Given the description of an element on the screen output the (x, y) to click on. 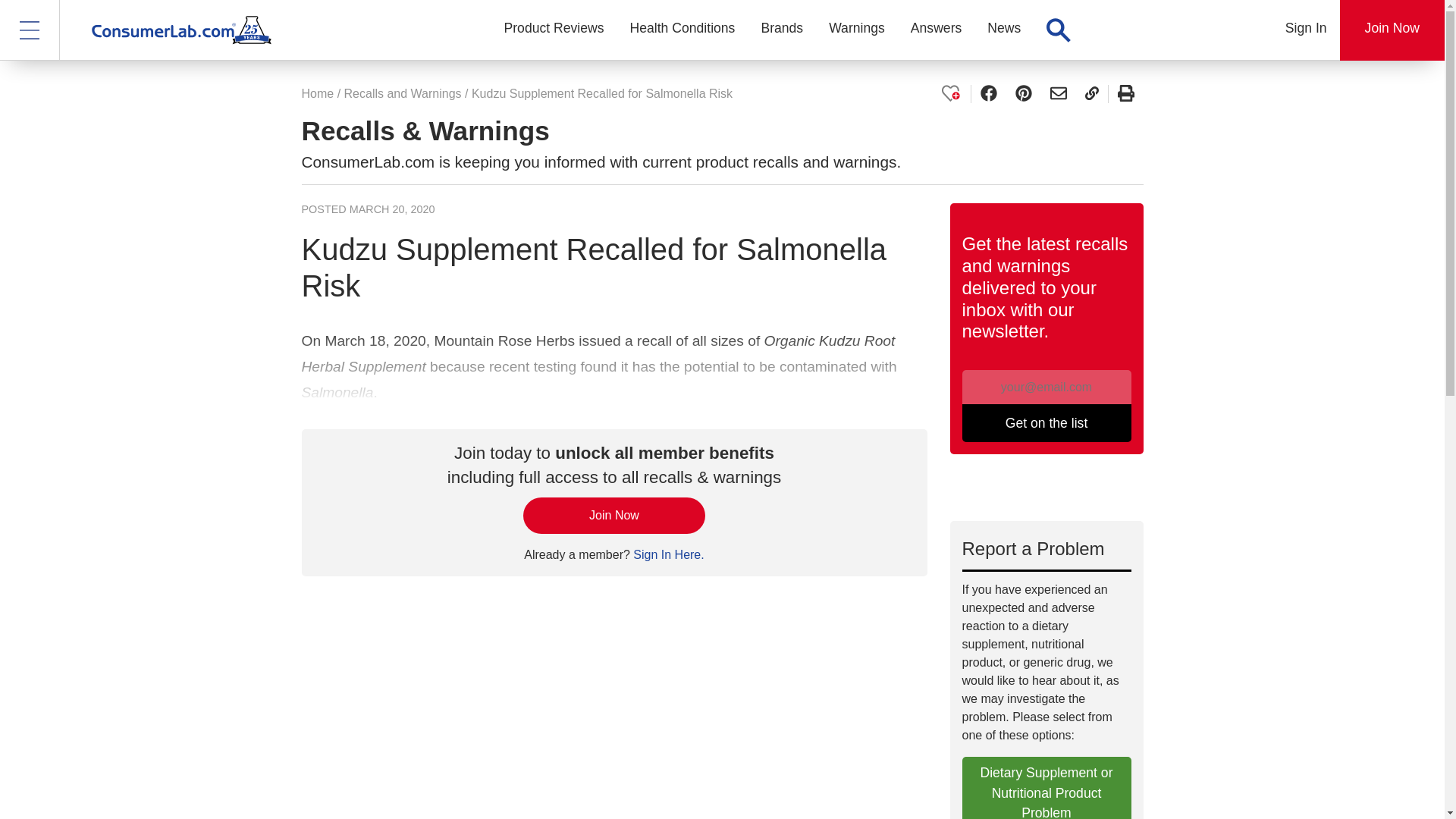
Health Conditions (682, 30)
Sign In (1305, 30)
News (1003, 30)
Brands (781, 30)
Click to copy URL to clipboard (1090, 94)
Answers (936, 30)
Product Reviews (554, 30)
Warnings (856, 30)
